Given the description of an element on the screen output the (x, y) to click on. 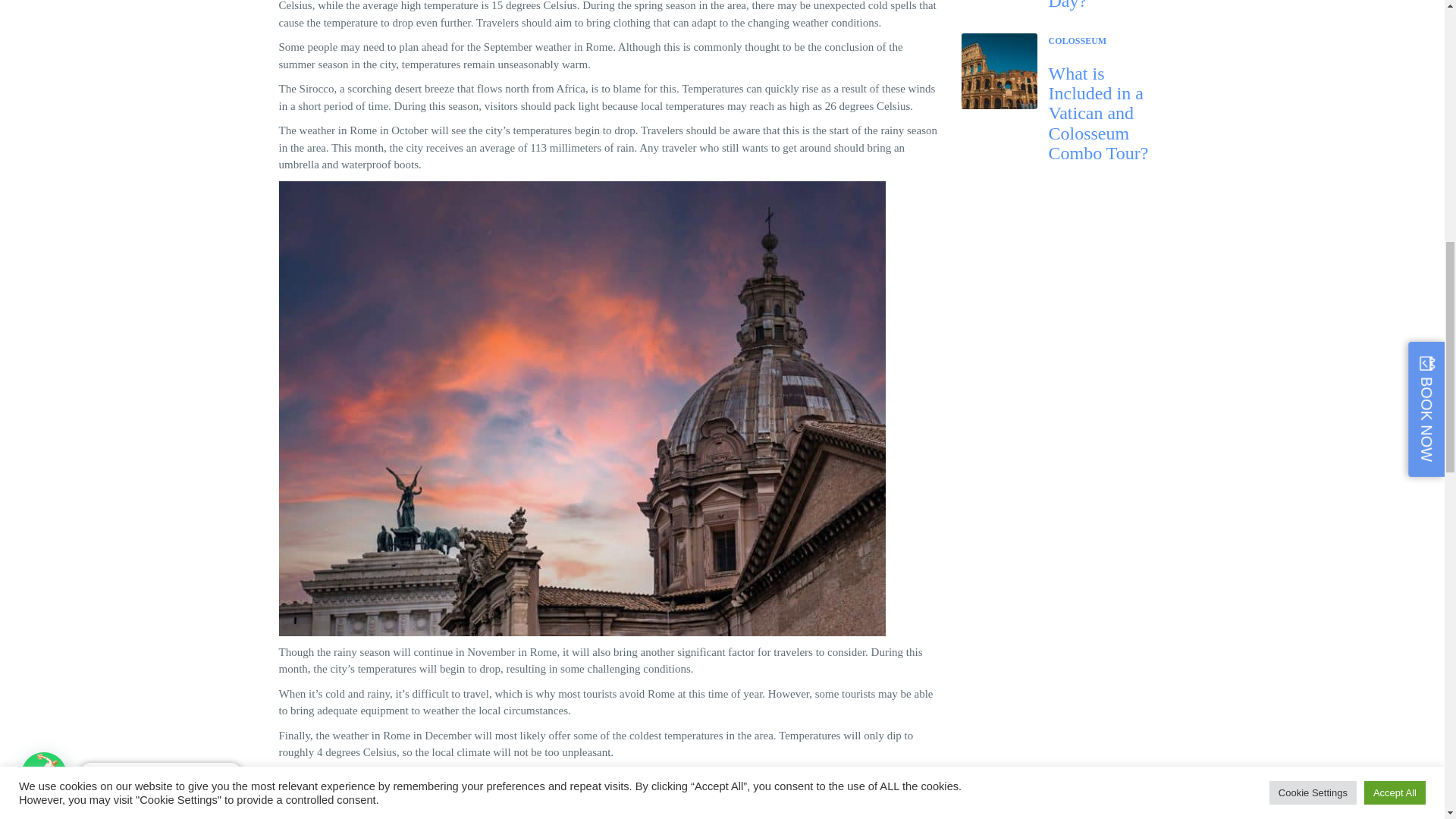
FareHarbor (1342, 64)
Eternal City (469, 811)
